Given the description of an element on the screen output the (x, y) to click on. 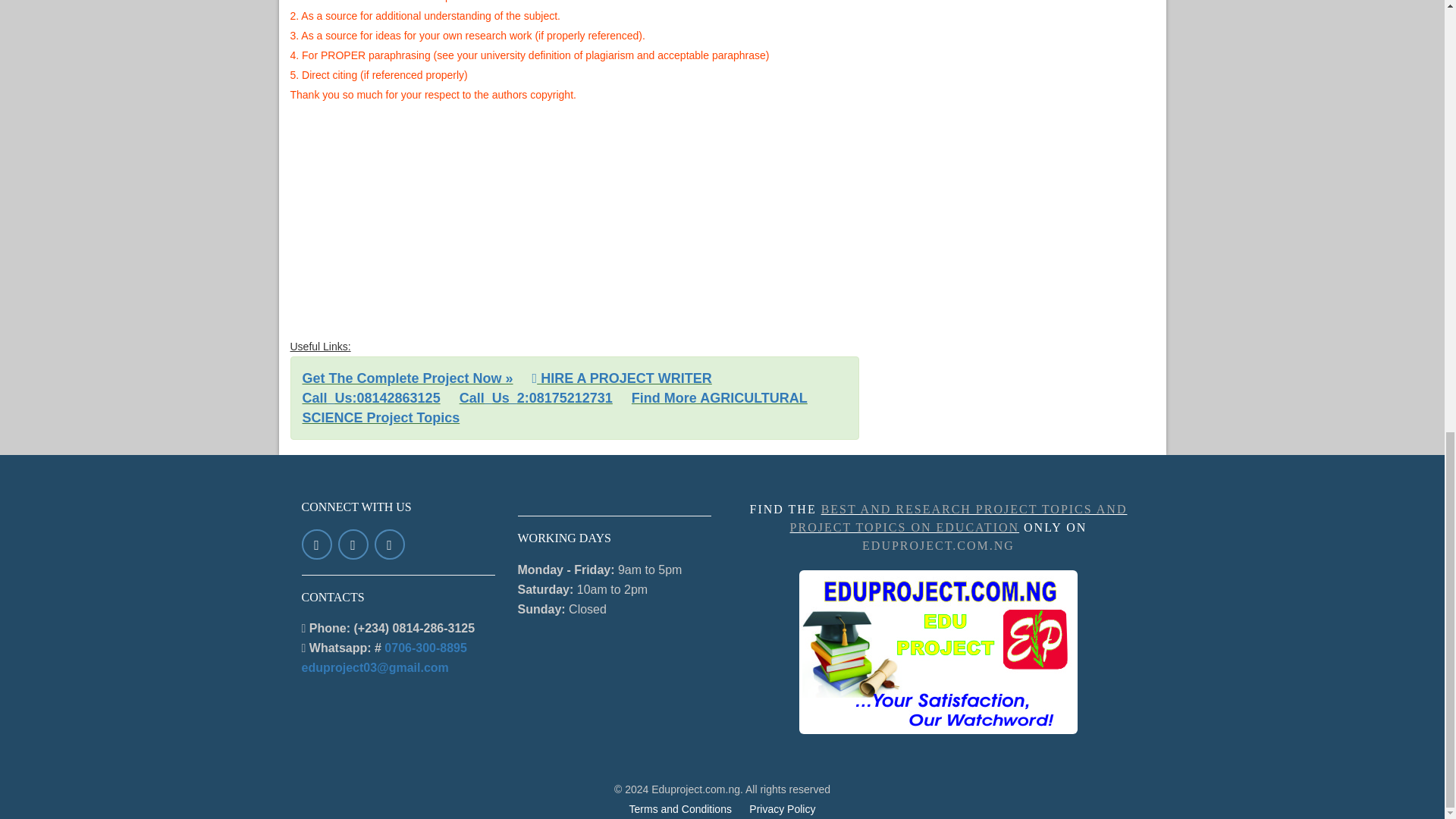
Find More AGRICULTURAL SCIENCE Project Topics (553, 407)
RESEARCH PROJECT TOPICS AND PROJECT TOPICS ON EDUCATION (958, 517)
0706-300-8895 (425, 647)
RESEARCH PROJECT TOPICS AND PROJECT TOPICS ON EDUCATION (938, 651)
Terms and Condition (680, 808)
EDUPROJECT.COM.NG (937, 545)
Advertisement (1002, 67)
HIRE A PROJECT WRITER (621, 378)
